Given the description of an element on the screen output the (x, y) to click on. 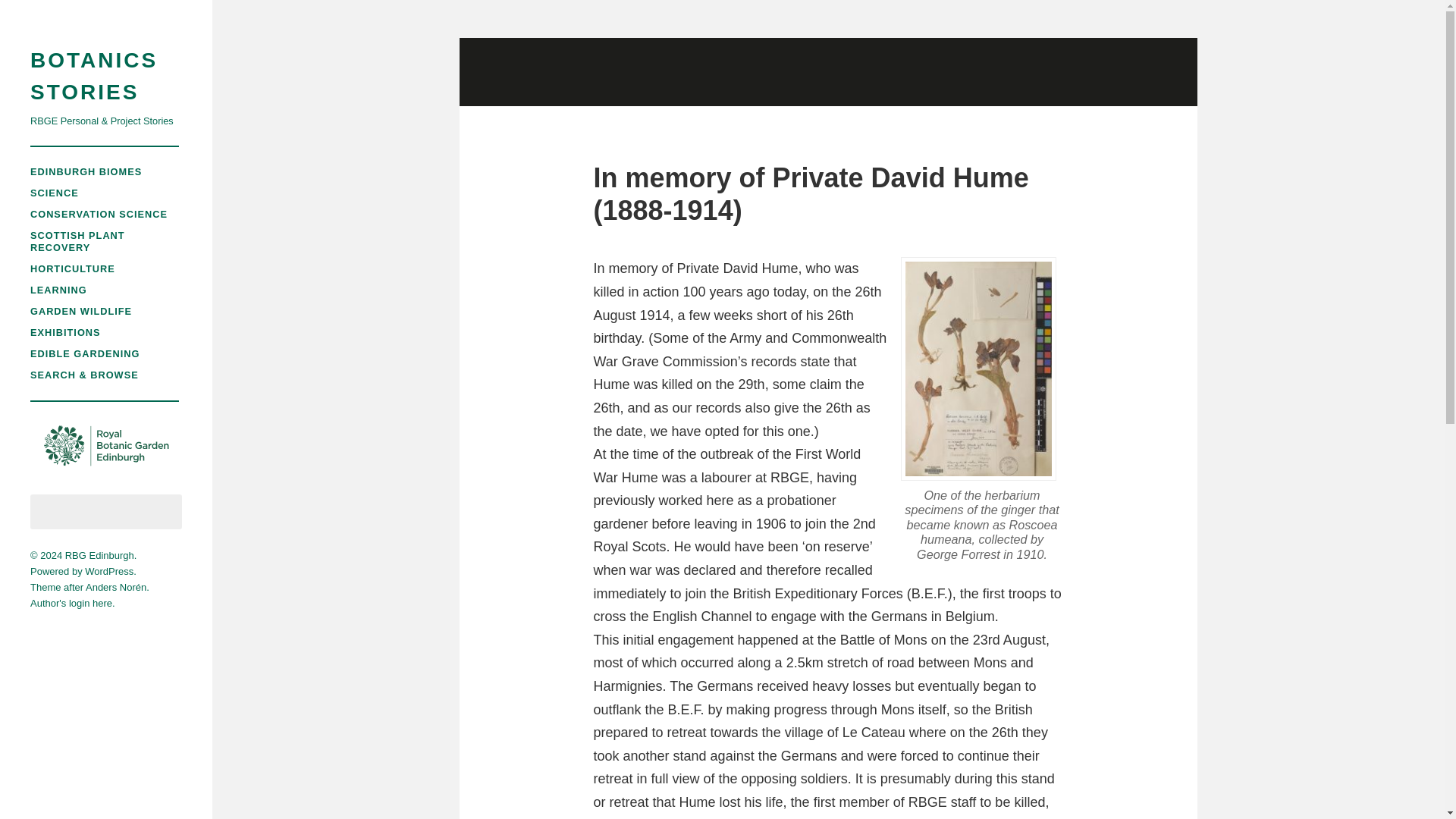
EDINBURGH BIOMES (85, 171)
EDIBLE GARDENING (84, 353)
Author's login here. (72, 603)
EXHIBITIONS (65, 332)
SCOTTISH PLANT RECOVERY (77, 241)
GARDEN WILDLIFE (81, 310)
LEARNING (58, 289)
Search (163, 511)
CONSERVATION SCIENCE (98, 214)
HORTICULTURE (72, 268)
WordPress (108, 571)
RBG Edinburgh (99, 555)
SCIENCE (54, 193)
Search (163, 511)
BOTANICS STORIES (106, 76)
